Given the description of an element on the screen output the (x, y) to click on. 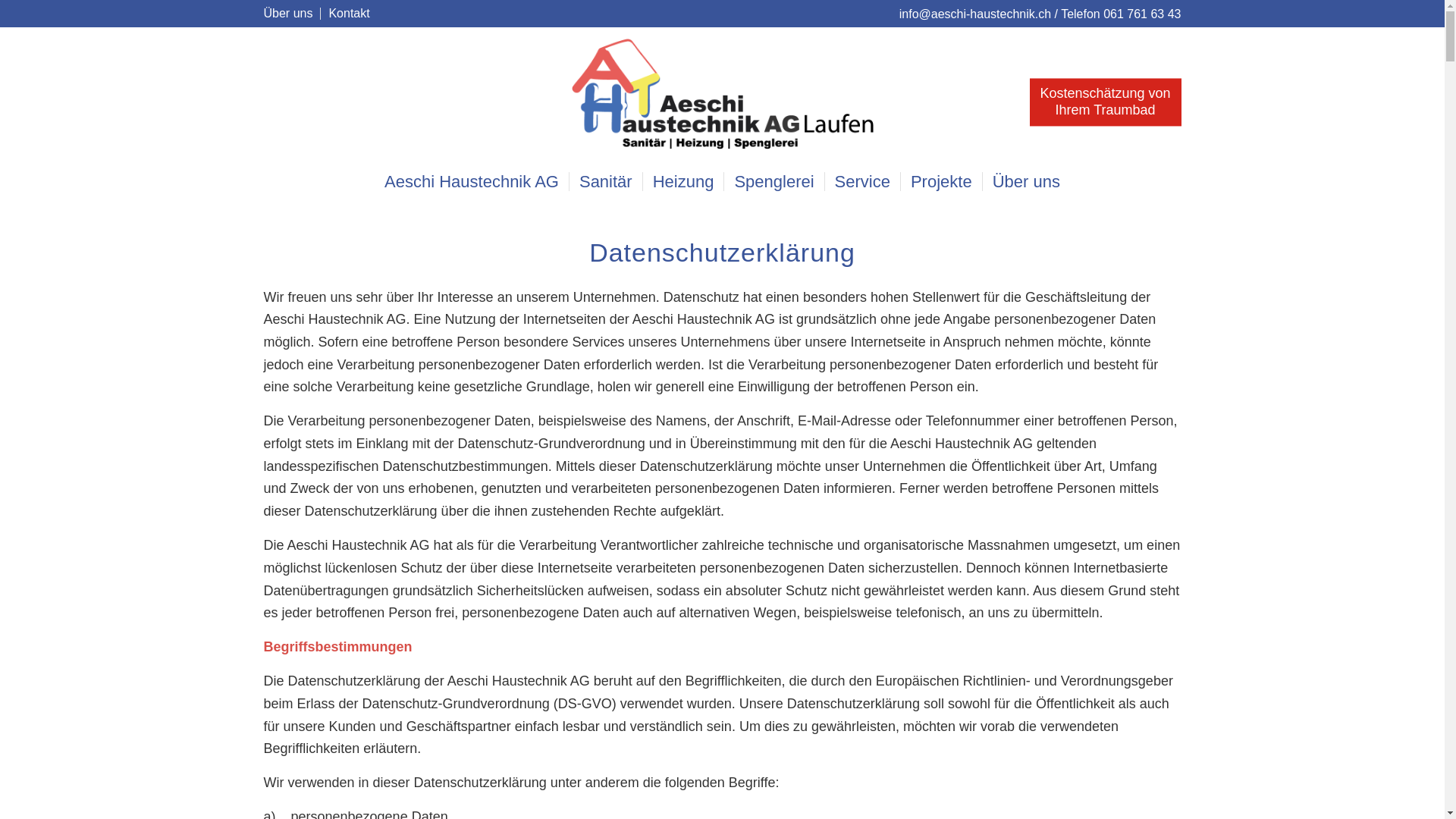
Service Element type: text (862, 181)
Kontakt Element type: text (348, 13)
Aeschi Haustechnik AG Element type: text (471, 181)
info@aeschi-haustechnik.ch Element type: text (976, 13)
Spenglerei Element type: text (773, 181)
Projekte Element type: text (941, 181)
Heizung Element type: text (683, 181)
Logo_Aeschi_Haustechnik_AG_Laufen_1 Element type: hover (721, 94)
061 761 63 43 Element type: text (1141, 13)
